Given the description of an element on the screen output the (x, y) to click on. 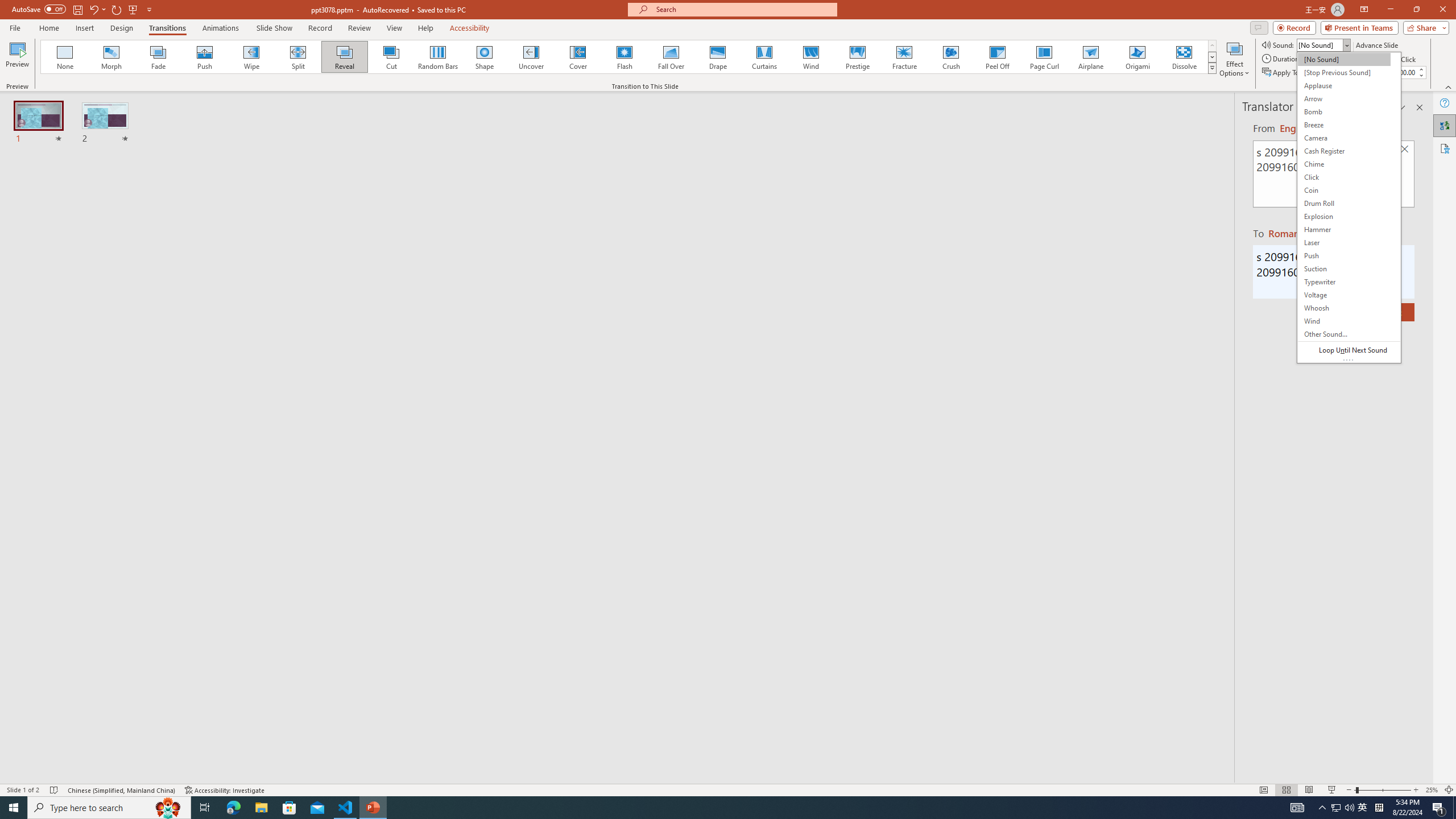
Transition Effects (1212, 67)
Split (298, 56)
Airplane (1090, 56)
